Given the description of an element on the screen output the (x, y) to click on. 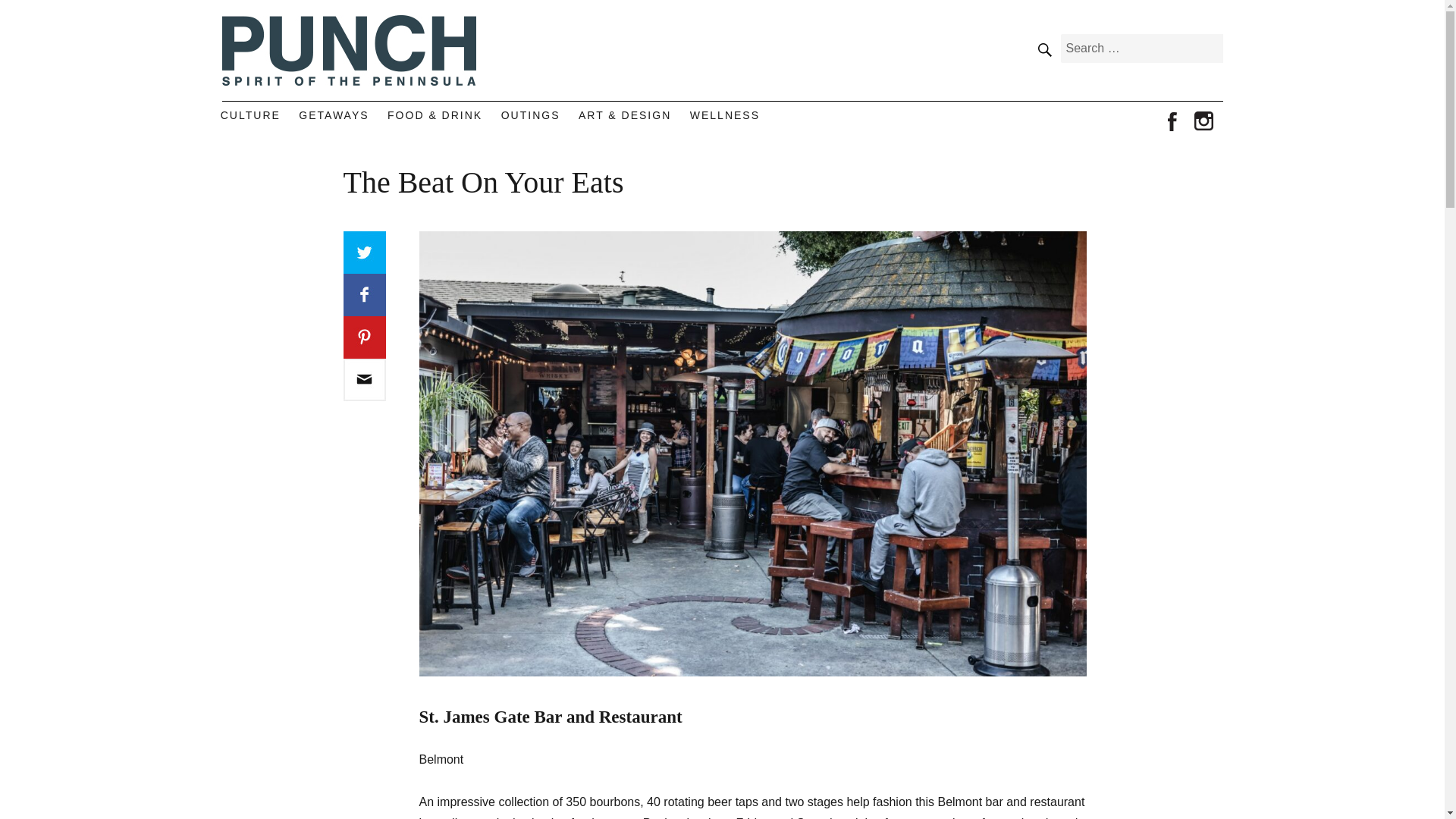
SEARCH (1043, 48)
CULTURE (250, 115)
WELLNESS (725, 115)
instagram (1204, 121)
OUTINGS (530, 115)
GETAWAYS (333, 115)
facebook (1171, 121)
